Given the description of an element on the screen output the (x, y) to click on. 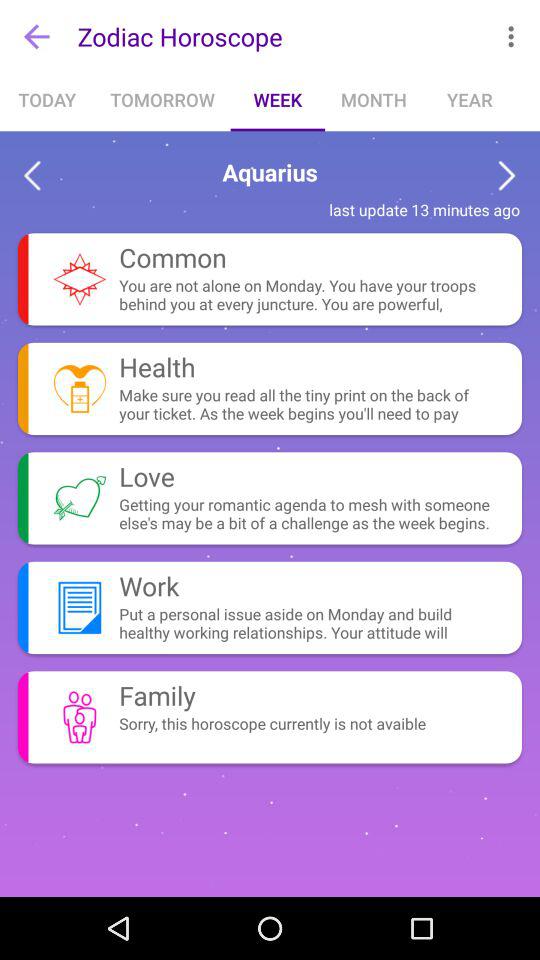
go to next (506, 175)
